Given the description of an element on the screen output the (x, y) to click on. 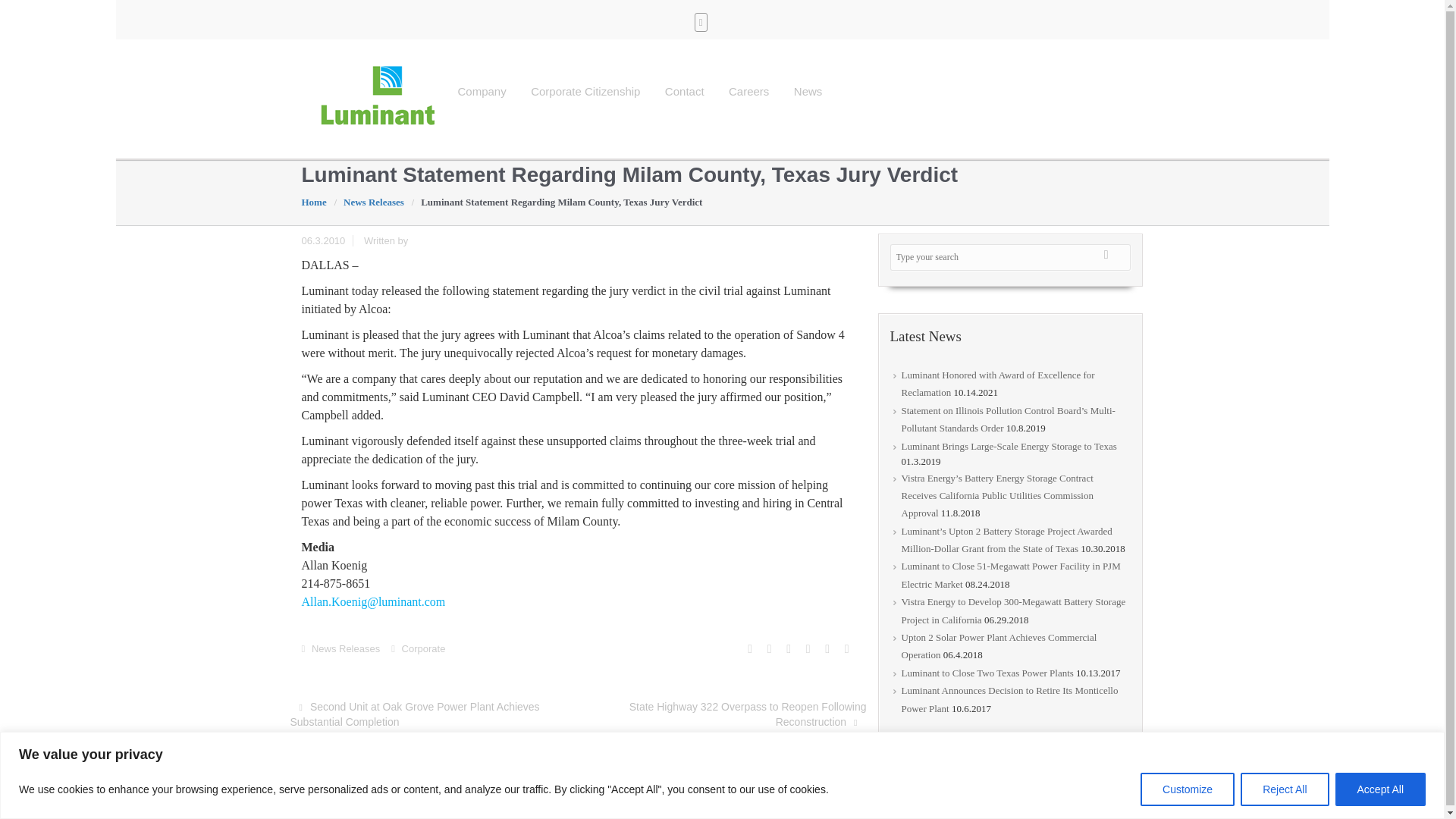
Corporate (423, 648)
Company (482, 91)
06.3.2010 (331, 240)
Home (317, 202)
Customize (1187, 788)
Careers (748, 91)
News Releases (345, 648)
News (808, 91)
Reject All (1283, 788)
Accept All (1380, 788)
